Given the description of an element on the screen output the (x, y) to click on. 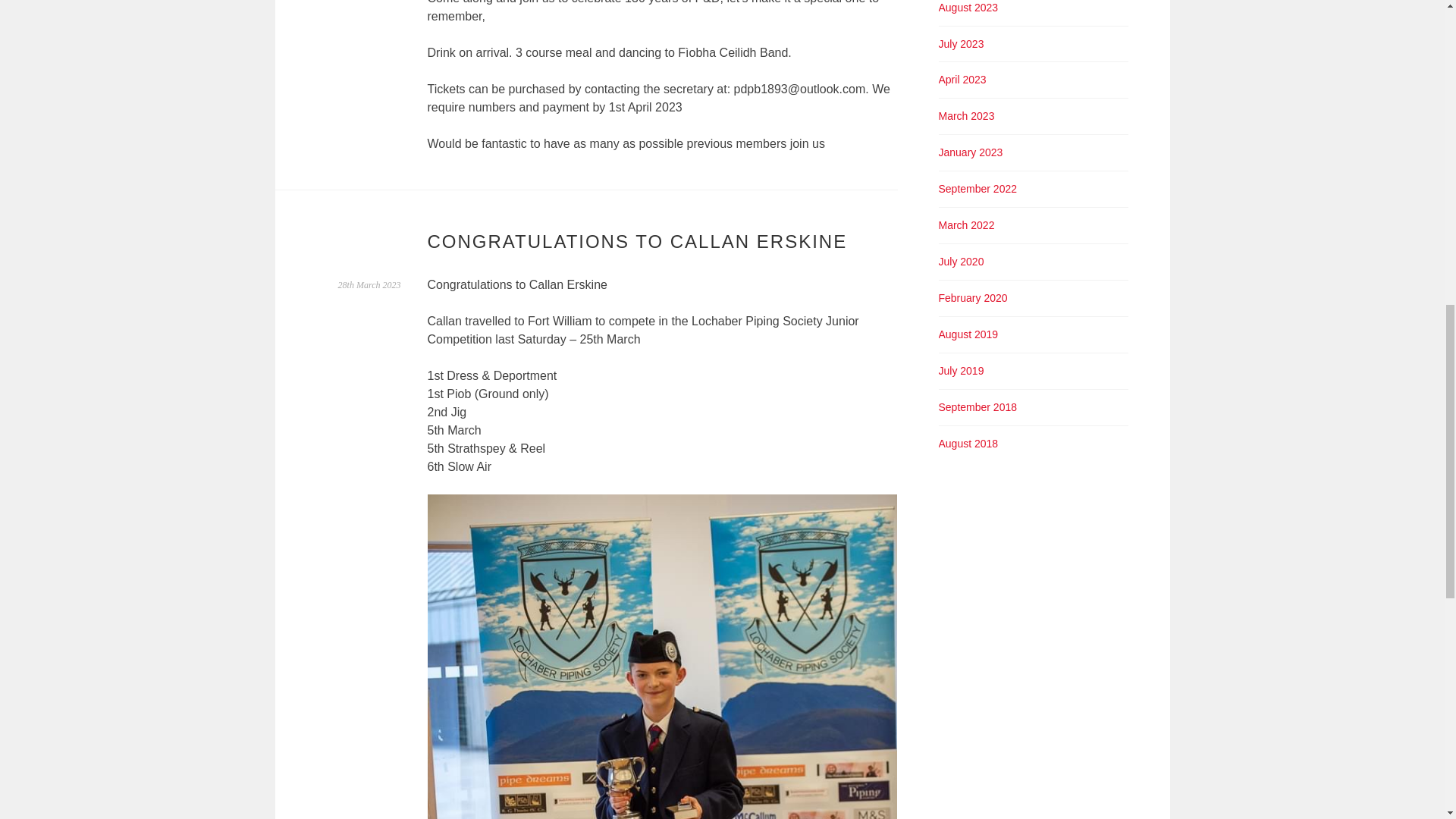
July 2023 (961, 43)
Permalink to Congratulations to Callan Erskine (369, 285)
28th March 2023 (369, 285)
March 2022 (966, 224)
CONGRATULATIONS TO CALLAN ERSKINE (637, 240)
March 2023 (966, 115)
April 2023 (963, 79)
August 2023 (968, 7)
September 2022 (978, 188)
January 2023 (971, 152)
